Given the description of an element on the screen output the (x, y) to click on. 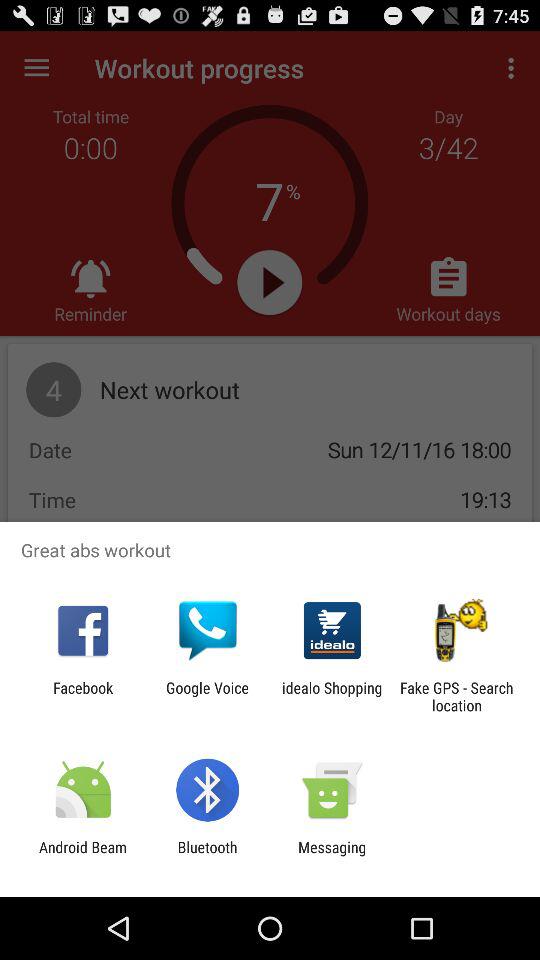
jump to the google voice icon (207, 696)
